Given the description of an element on the screen output the (x, y) to click on. 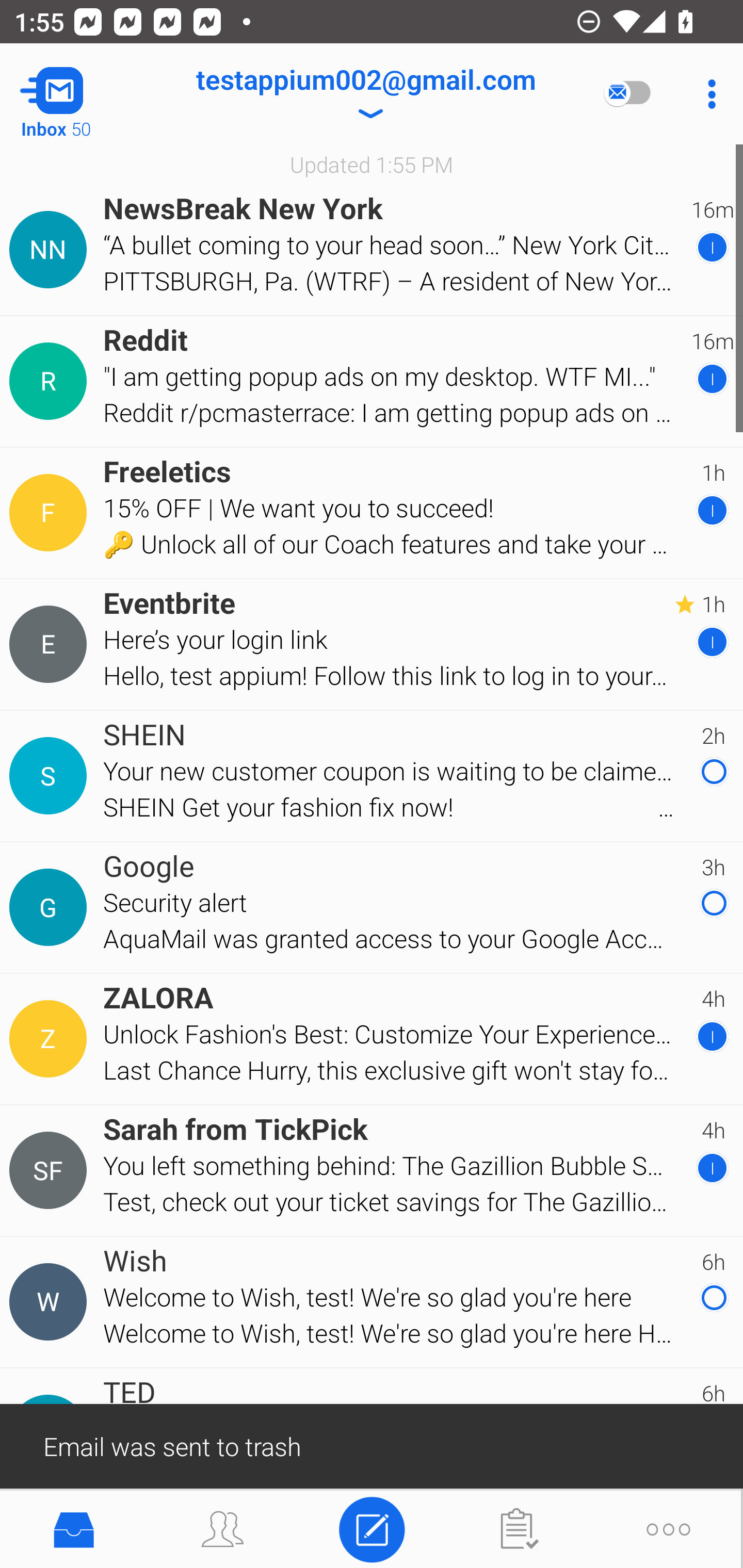
Navigate up (81, 93)
testappium002@gmail.com (365, 93)
More Options (706, 93)
Updated 1:55 PM (371, 164)
Contact Details (50, 250)
Contact Details (50, 381)
Contact Details (50, 513)
Contact Details (50, 644)
Contact Details (50, 776)
Contact Details (50, 907)
Contact Details (50, 1038)
Contact Details (50, 1170)
Contact Details (50, 1302)
Email was sent to trash (371, 1445)
Compose (371, 1528)
